Given the description of an element on the screen output the (x, y) to click on. 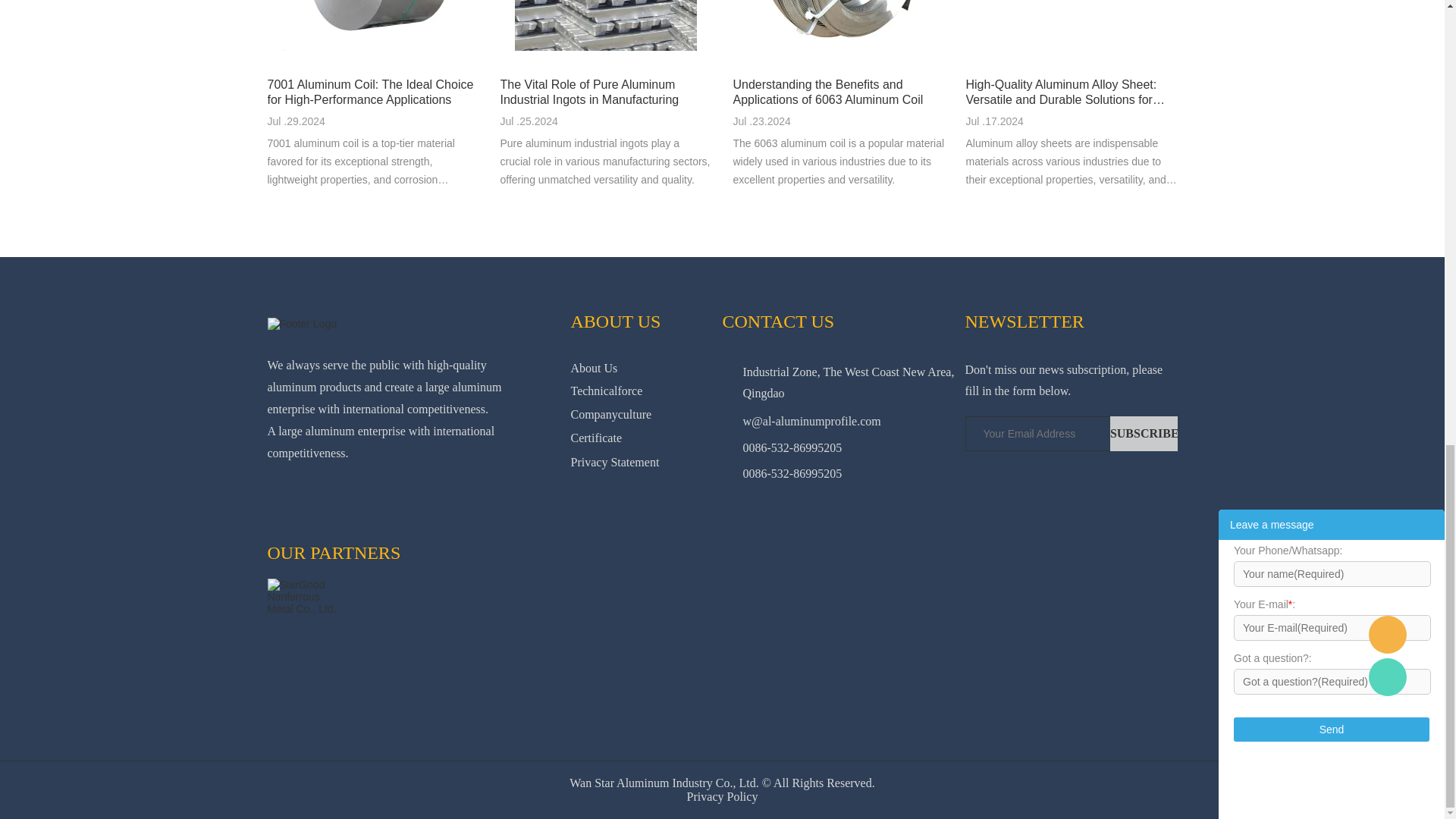
SUBSCRIBE (1143, 433)
